Given the description of an element on the screen output the (x, y) to click on. 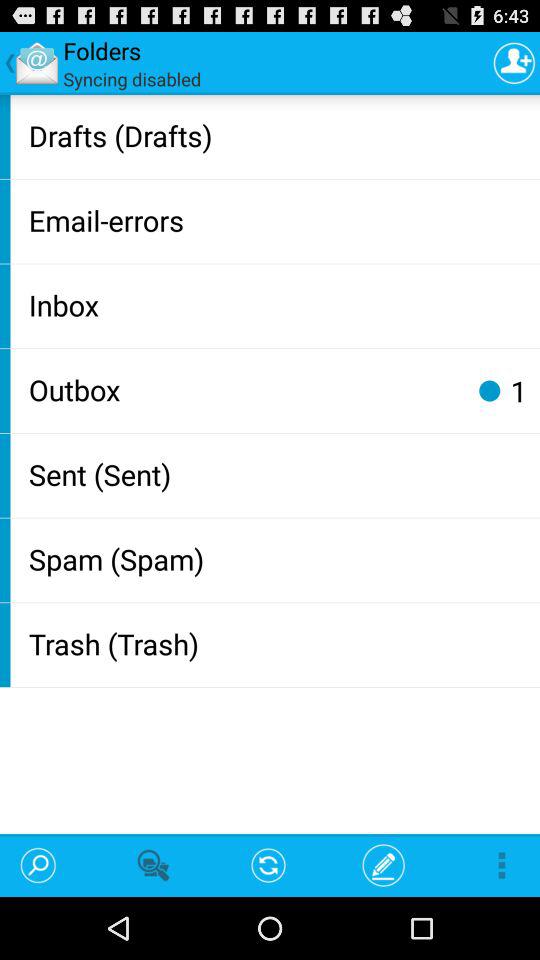
turn on icon at the top right corner (514, 62)
